Given the description of an element on the screen output the (x, y) to click on. 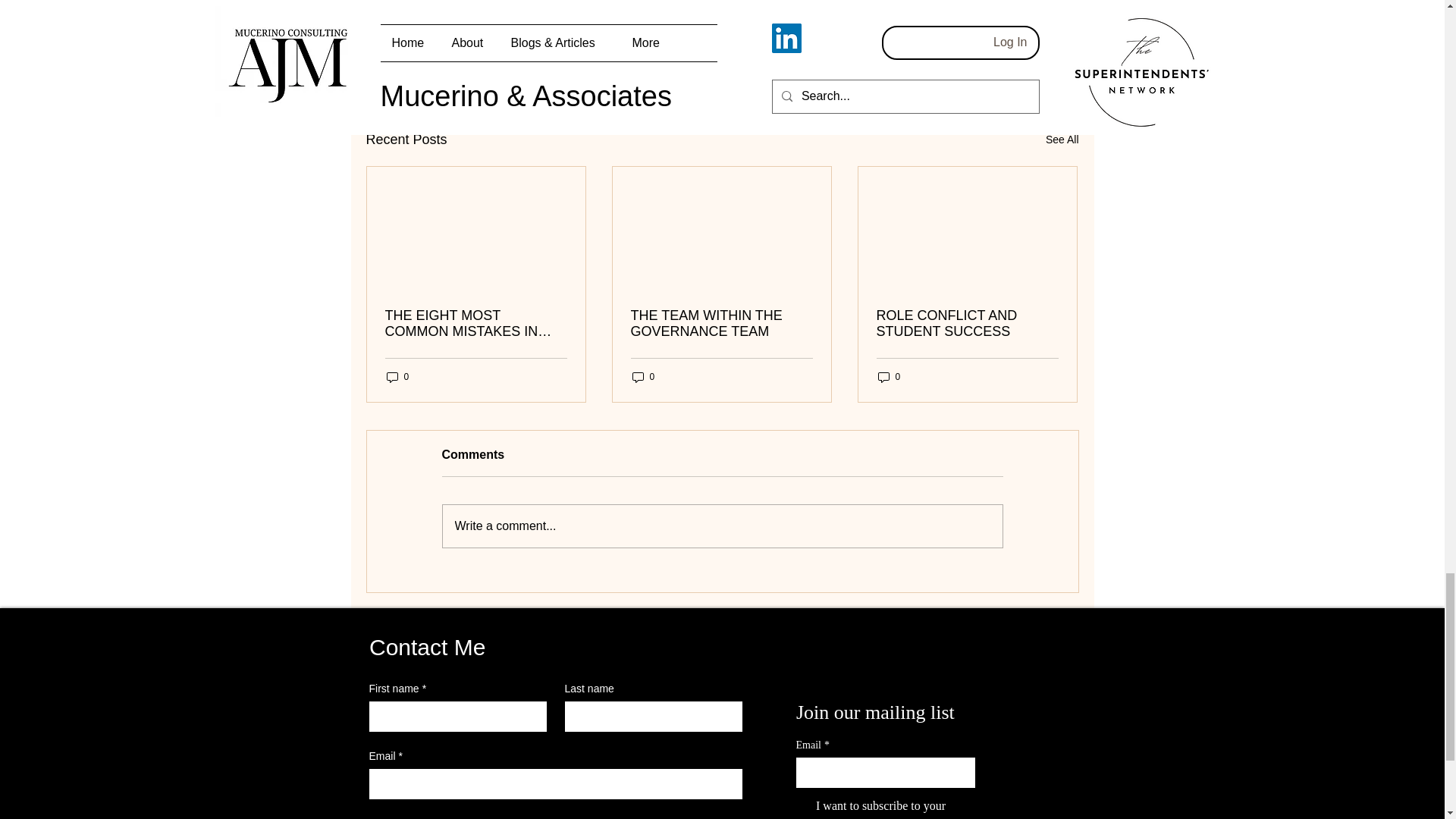
Career Development and Advancement (795, 42)
0 (643, 377)
Leadership Team Development (645, 42)
See All (1061, 139)
0 (397, 377)
THE TEAM WITHIN THE GOVERNANCE TEAM (721, 323)
THE EIGHT MOST COMMON MISTAKES IN SCHOOL GOVERNANCE (476, 323)
